Given the description of an element on the screen output the (x, y) to click on. 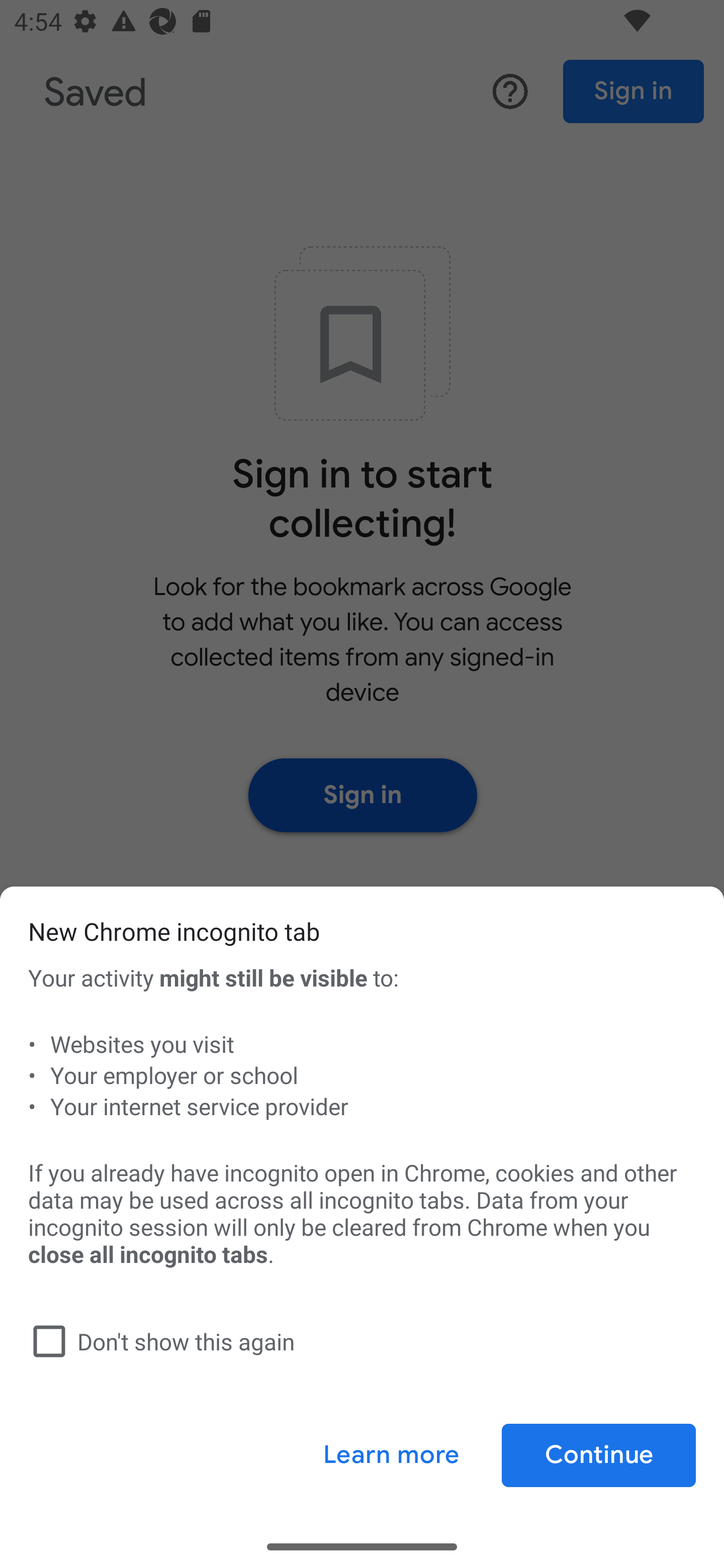
Don't show this again (357, 1341)
Learn more (390, 1454)
Continue (598, 1454)
